Given the description of an element on the screen output the (x, y) to click on. 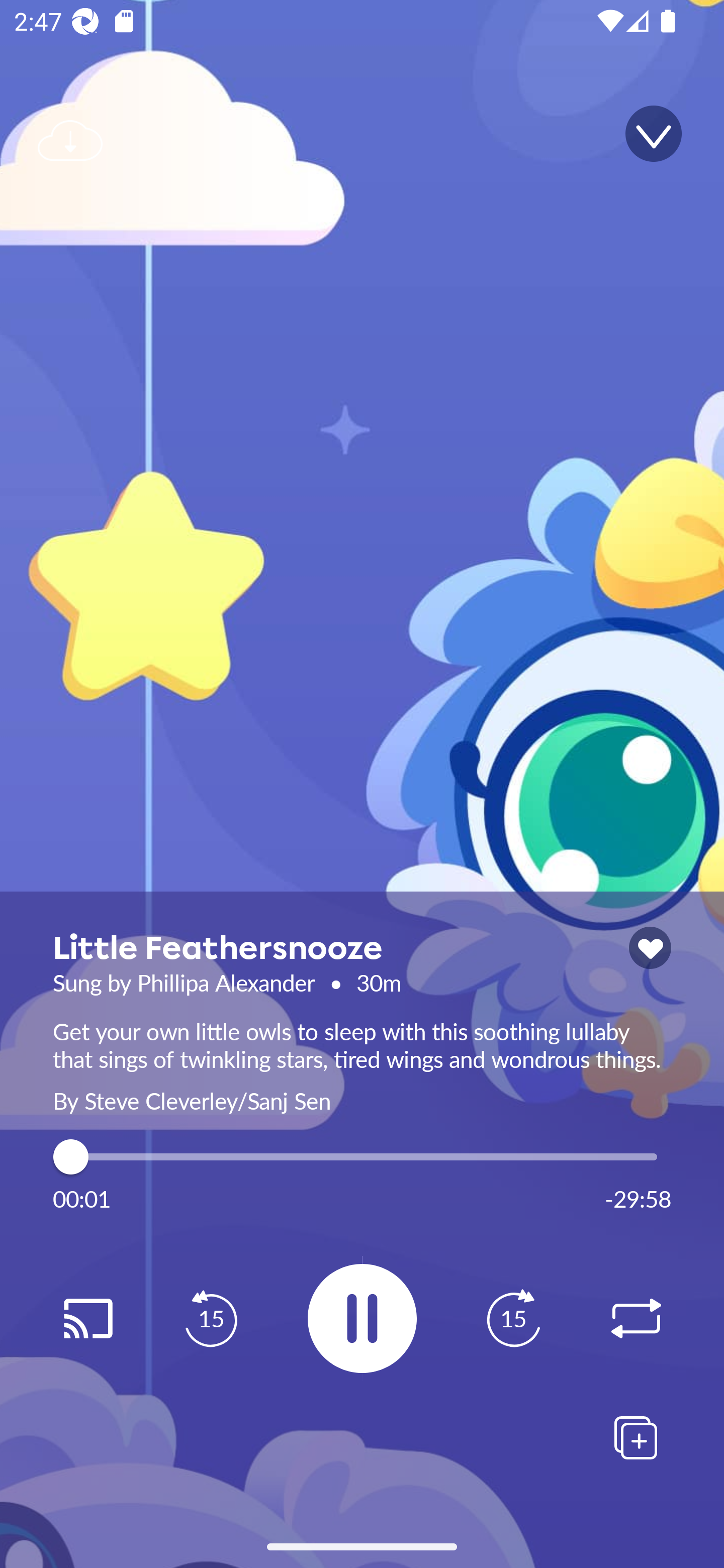
lock icon (650, 947)
5.6444446E-4 Pause (361, 1317)
Replay (87, 1318)
Replay 15 (210, 1318)
Replay 15 (513, 1318)
Replay (635, 1318)
Add To Playlists (635, 1437)
